Given the description of an element on the screen output the (x, y) to click on. 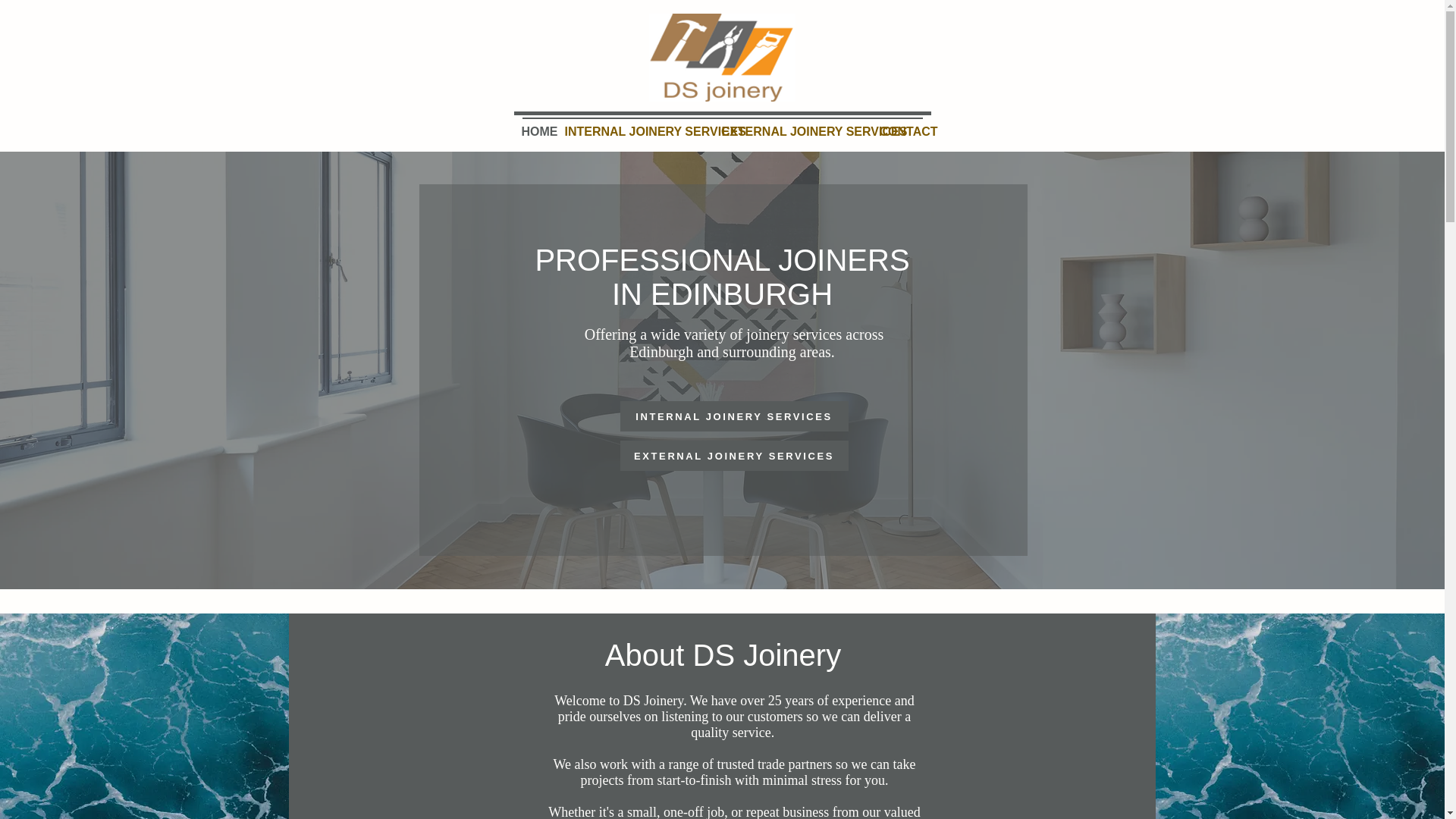
EXTERNAL JOINERY SERVICES (734, 455)
HOME (535, 131)
INTERNAL JOINERY SERVICES (634, 131)
INTERNAL JOINERY SERVICES (734, 416)
CONTACT (901, 131)
EXTERNAL JOINERY SERVICES (793, 131)
